Given the description of an element on the screen output the (x, y) to click on. 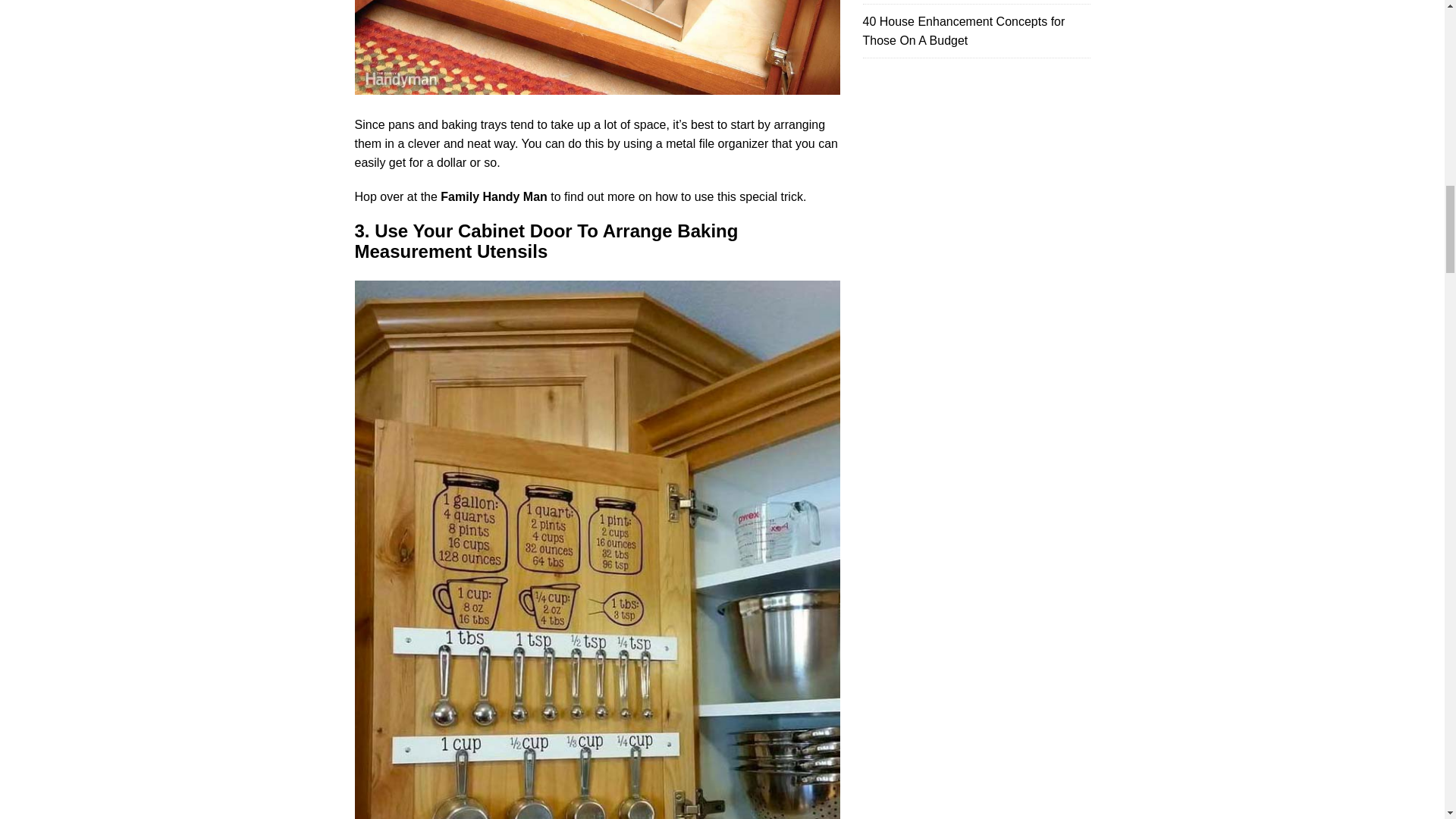
Family Handy Man (494, 196)
metal file organizer (716, 143)
2. Start With The Chunky And Heavy Stuff (597, 47)
